Given the description of an element on the screen output the (x, y) to click on. 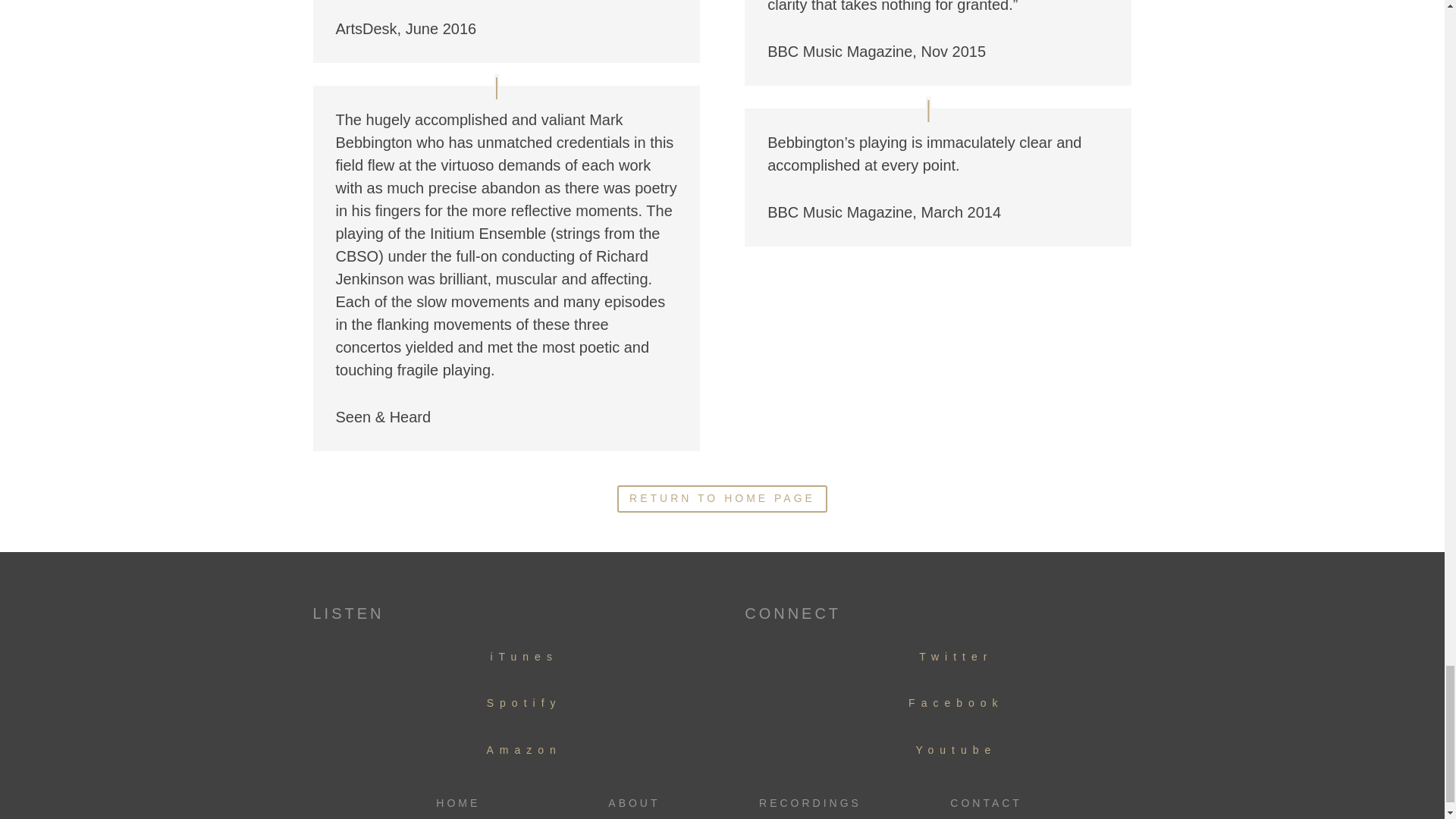
RETURN TO HOME PAGE (722, 498)
